Given the description of an element on the screen output the (x, y) to click on. 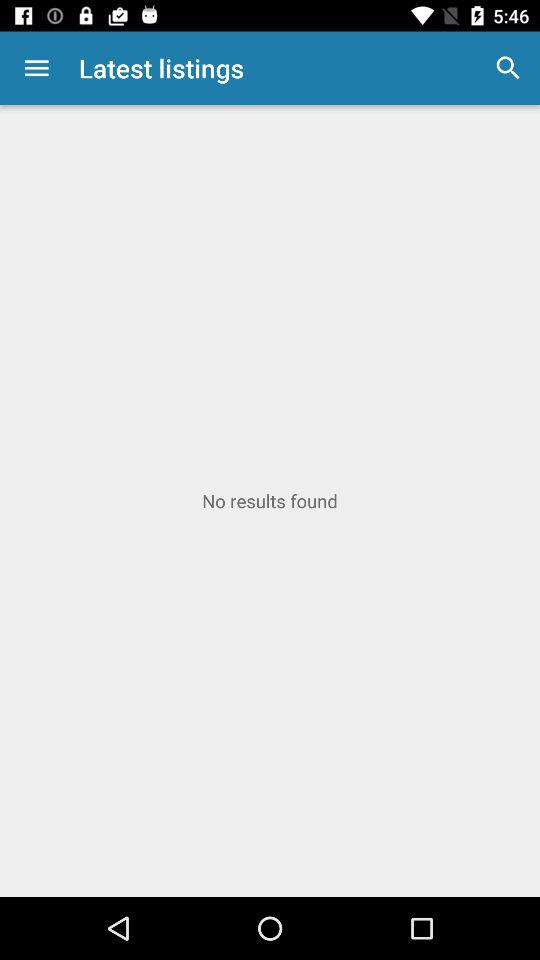
launch the item next to the latest listings icon (36, 68)
